Given the description of an element on the screen output the (x, y) to click on. 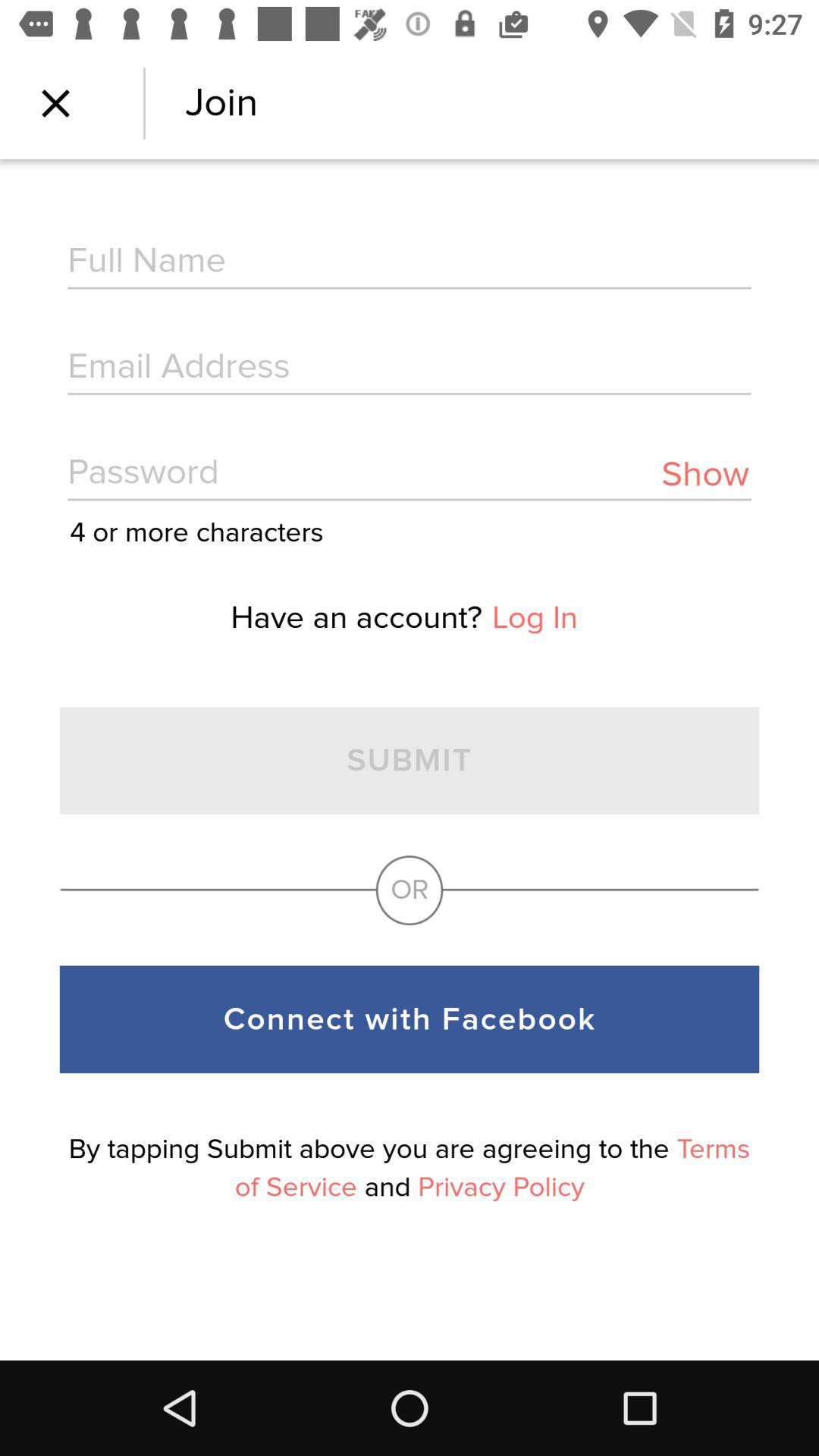
enter email address (409, 368)
